Given the description of an element on the screen output the (x, y) to click on. 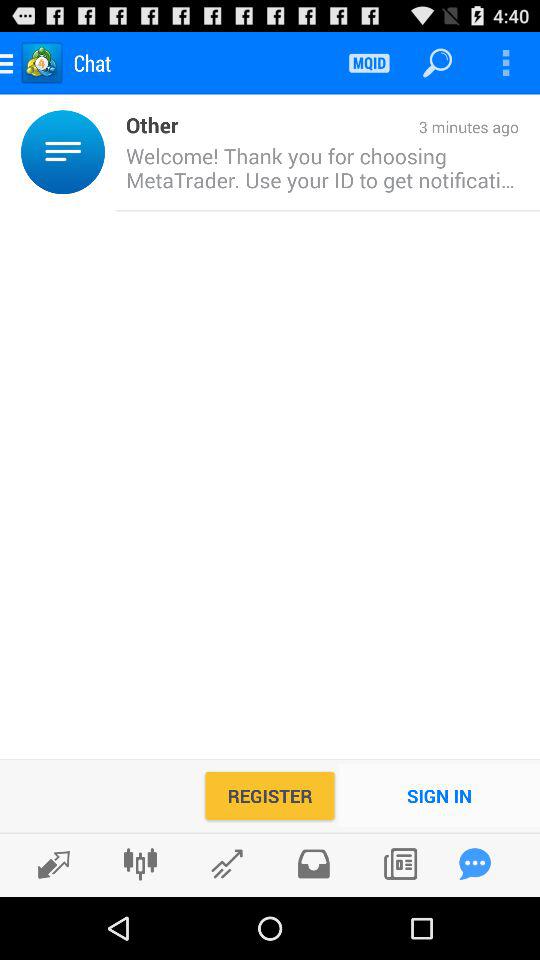
show the chart (226, 863)
